Given the description of an element on the screen output the (x, y) to click on. 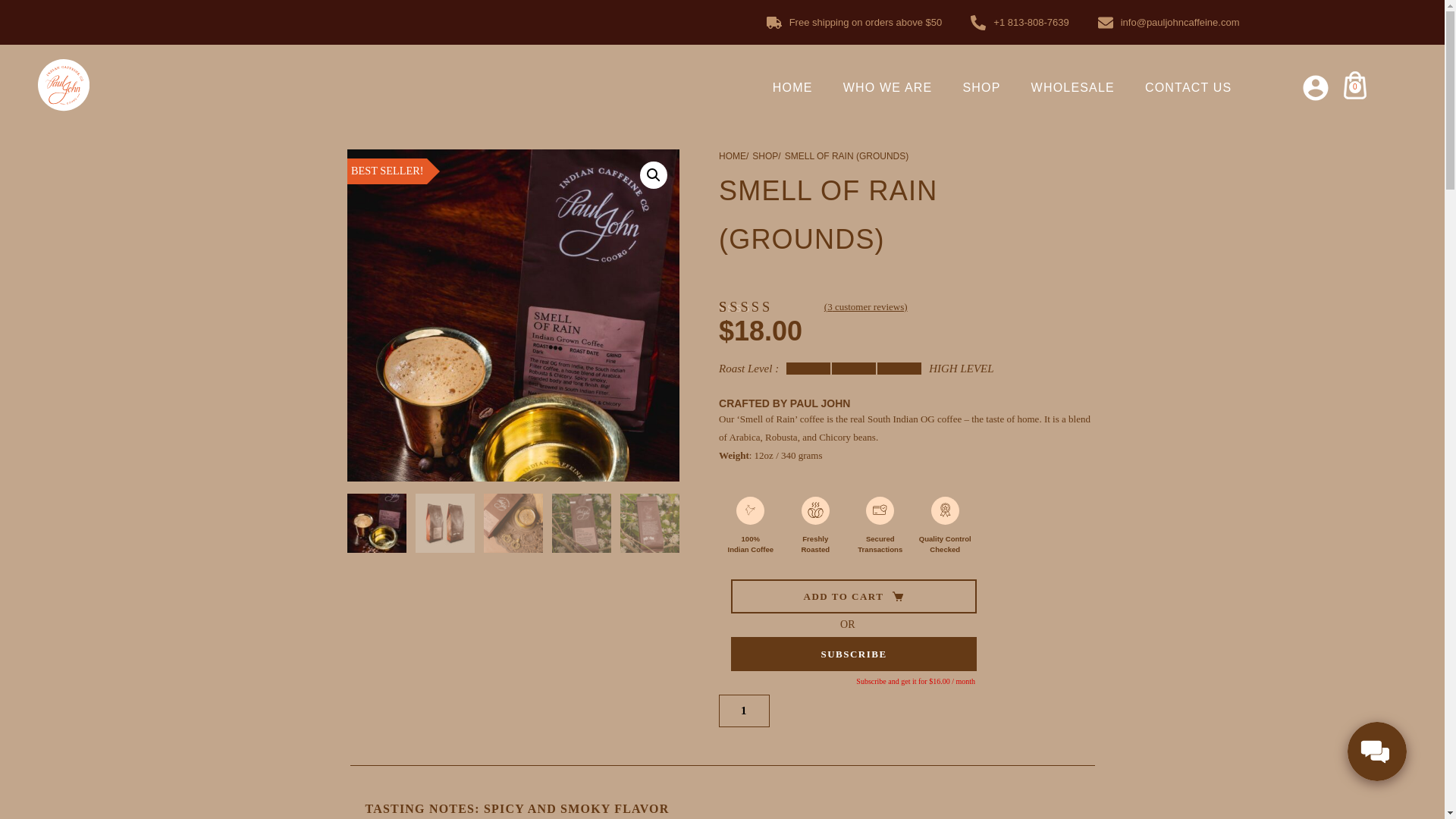
SHOP (980, 87)
CONTACT US (1188, 87)
HOME (792, 87)
1 (743, 710)
WHOLESALE (1072, 87)
Qty (743, 710)
WHO WE ARE (887, 87)
